Given the description of an element on the screen output the (x, y) to click on. 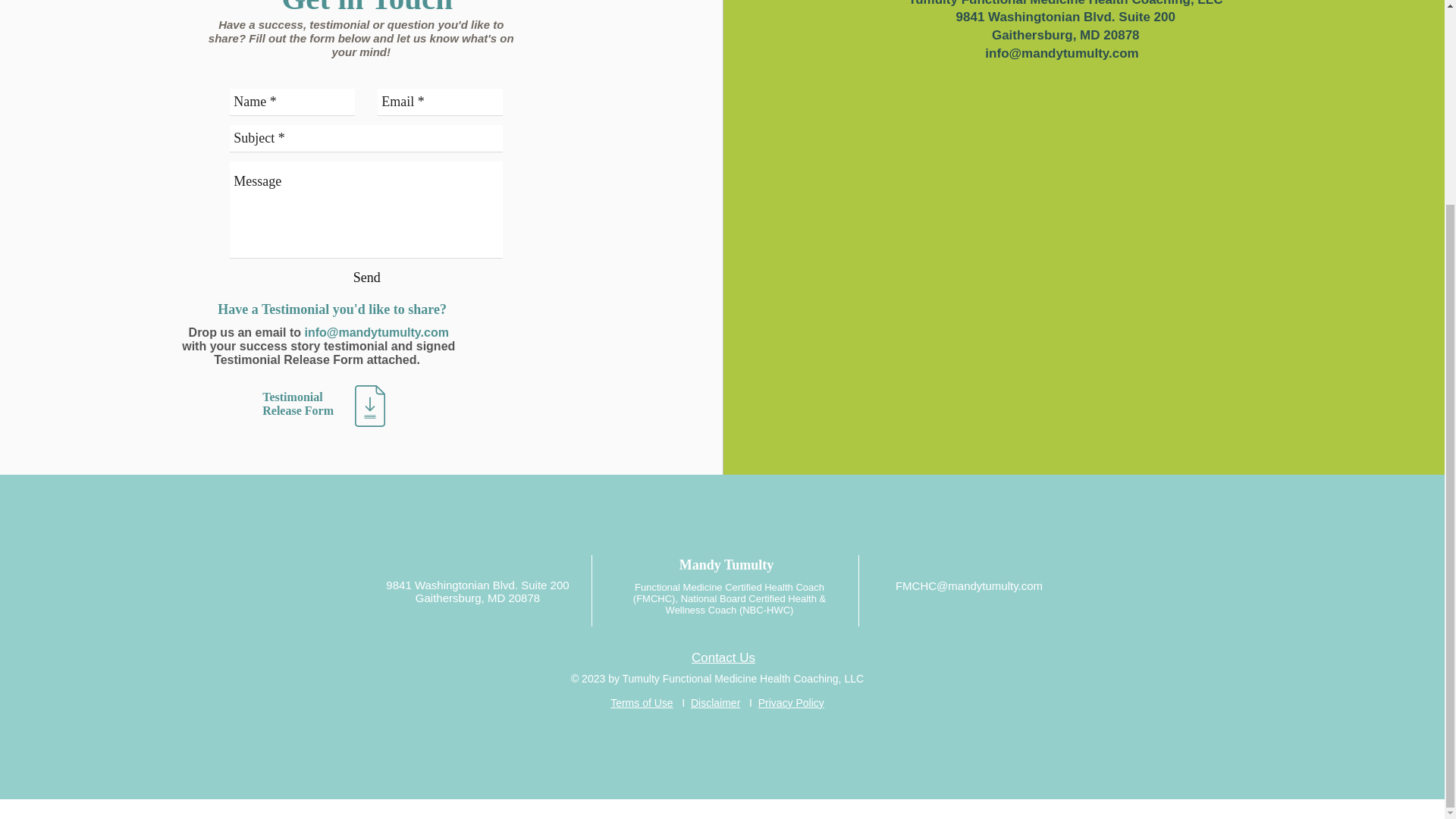
Terms of Use (641, 702)
Send (366, 277)
Privacy Policy (791, 702)
Mandy Tumulty (726, 564)
Disclaimer (714, 702)
Contact Us (723, 657)
